Given the description of an element on the screen output the (x, y) to click on. 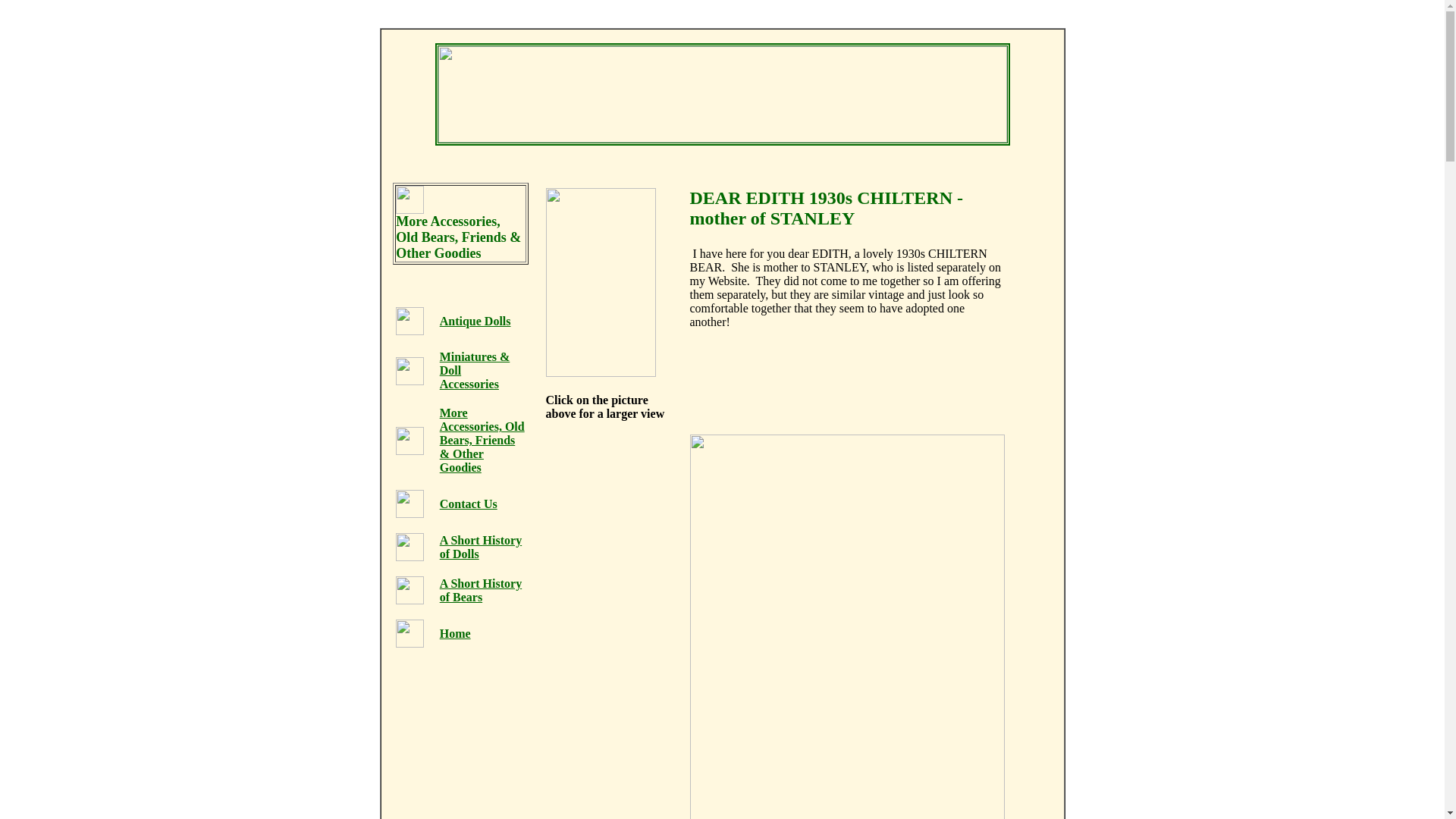
Antique Dolls (475, 320)
A Short History of Dolls (480, 546)
Contact Us (468, 503)
Home (454, 633)
A Short History of Bears (480, 590)
